Given the description of an element on the screen output the (x, y) to click on. 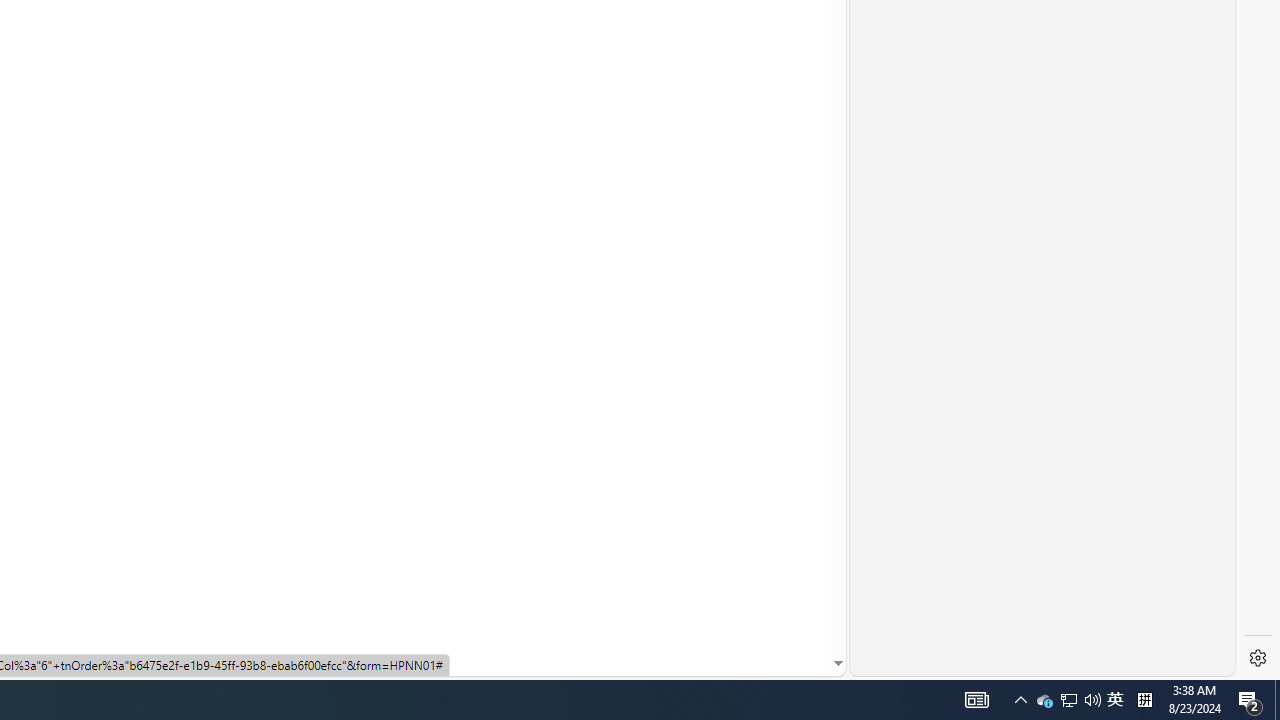
Search more (792, 604)
AutomationID: mfa_root (762, 603)
